Given the description of an element on the screen output the (x, y) to click on. 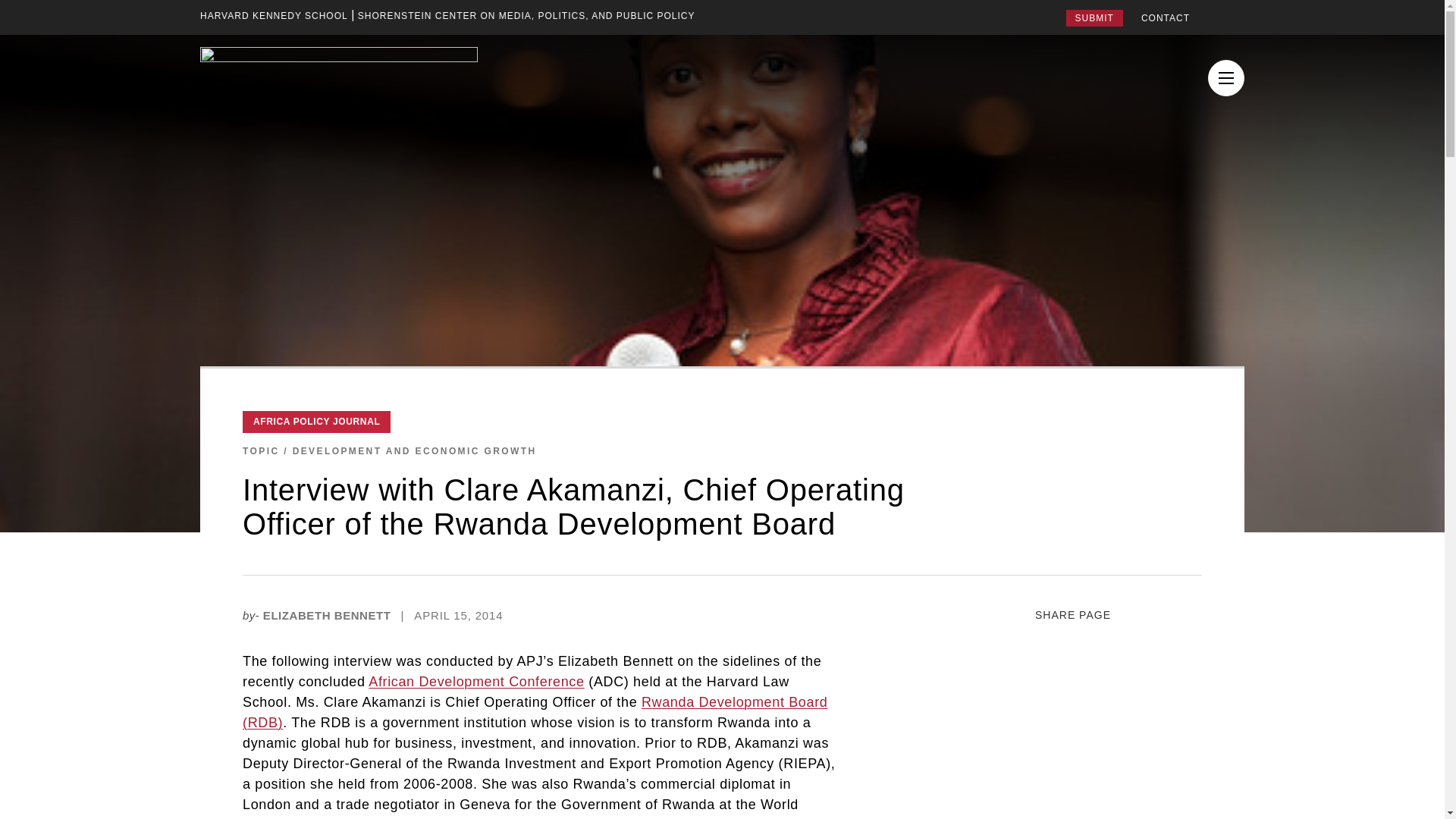
HKS Student Policy Review (338, 80)
SUBMIT (1093, 17)
CONTACT (1165, 18)
HARVARD KENNEDY SCHOOL (273, 15)
Shorenstein Center on Media, Politics, and Public Policy (526, 15)
SHORENSTEIN CENTER ON MEDIA, POLITICS, AND PUBLIC POLICY (526, 15)
Harvard Kennedy School (273, 15)
African Development Conference (475, 681)
